Given the description of an element on the screen output the (x, y) to click on. 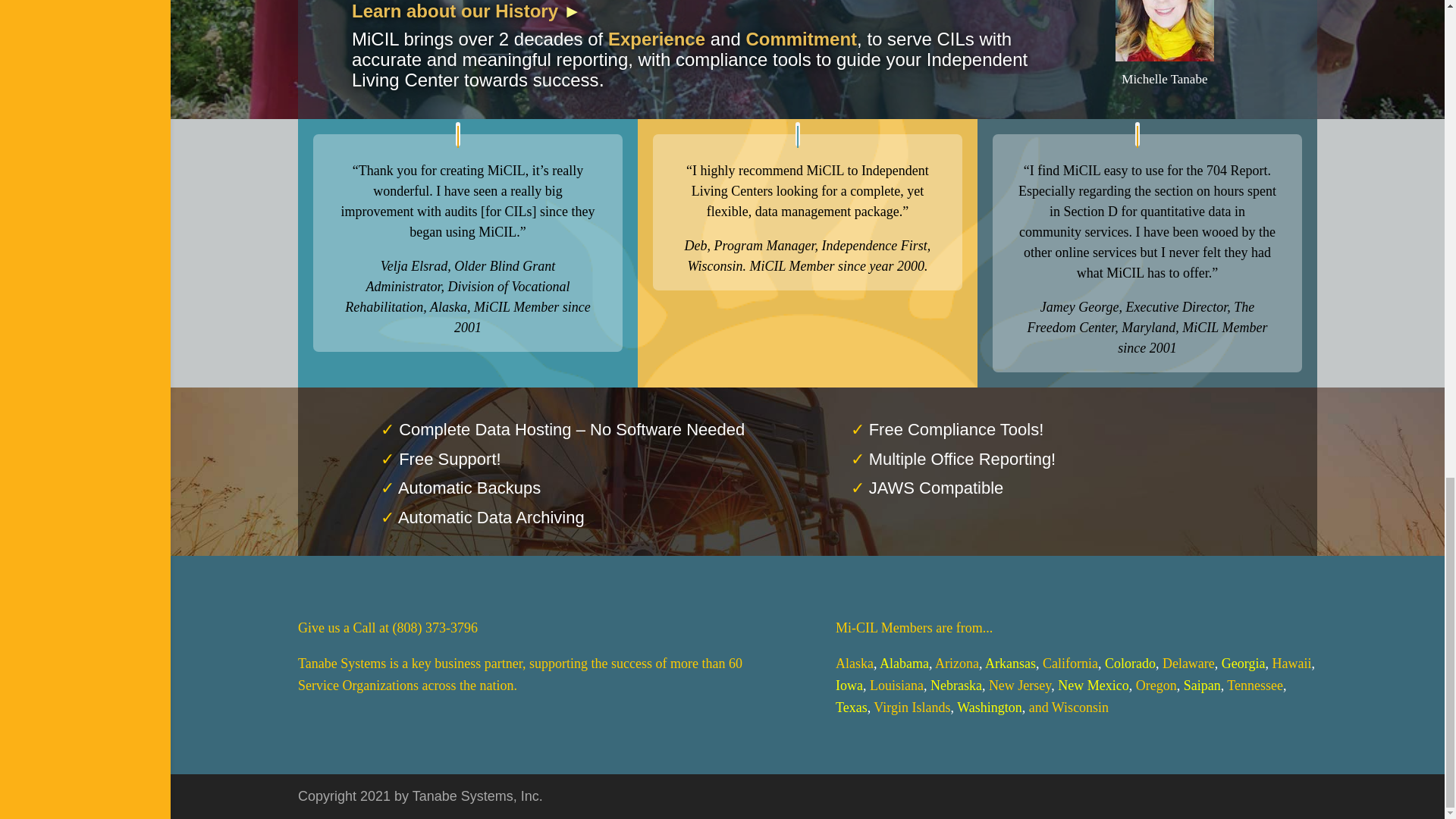
Learn about our History (454, 10)
